Given the description of an element on the screen output the (x, y) to click on. 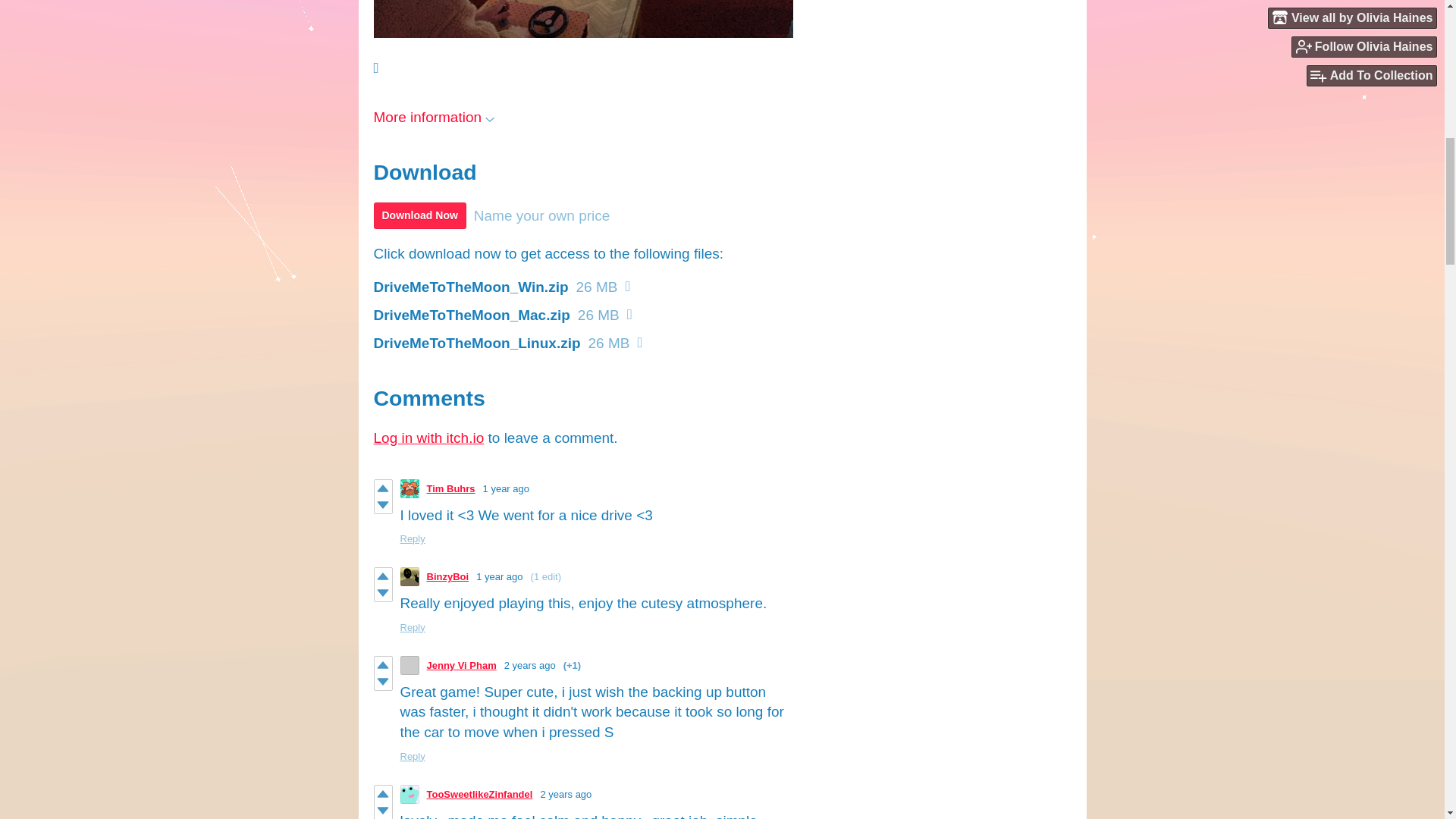
Vote up (382, 664)
Jenny Vi Pham (461, 665)
2021-12-16 02:00:19 (529, 665)
Log in with itch.io (427, 437)
2023-01-24 20:11:52 (506, 488)
Download for Linux (639, 342)
Vote down (382, 504)
Reply (412, 627)
More information (433, 116)
1 year ago (506, 488)
2022-10-23 07:23:51 (499, 576)
Vote up (382, 487)
2 years ago (529, 665)
1 year ago (499, 576)
Vote down (382, 592)
